Given the description of an element on the screen output the (x, y) to click on. 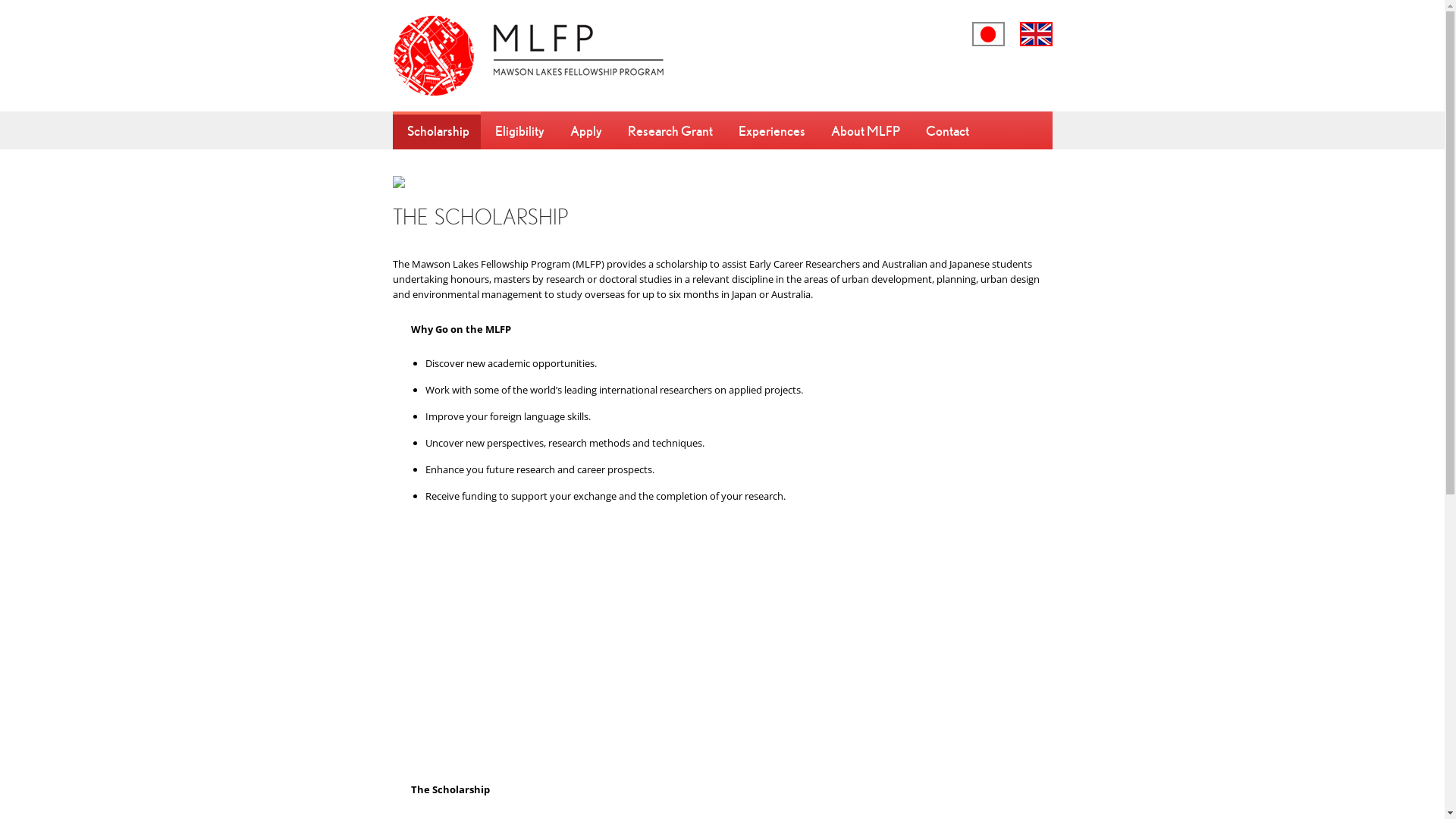
About MLFP Element type: text (862, 130)
Scholarship Element type: text (436, 130)
Eligibility Element type: text (517, 130)
Research Grant Element type: text (667, 130)
Experiences Element type: text (769, 130)
Contact Element type: text (945, 130)
Mawson Lakes Fellowship Program Element type: hover (551, 55)
English Element type: hover (1035, 33)
Apply Element type: text (583, 130)
